Given the description of an element on the screen output the (x, y) to click on. 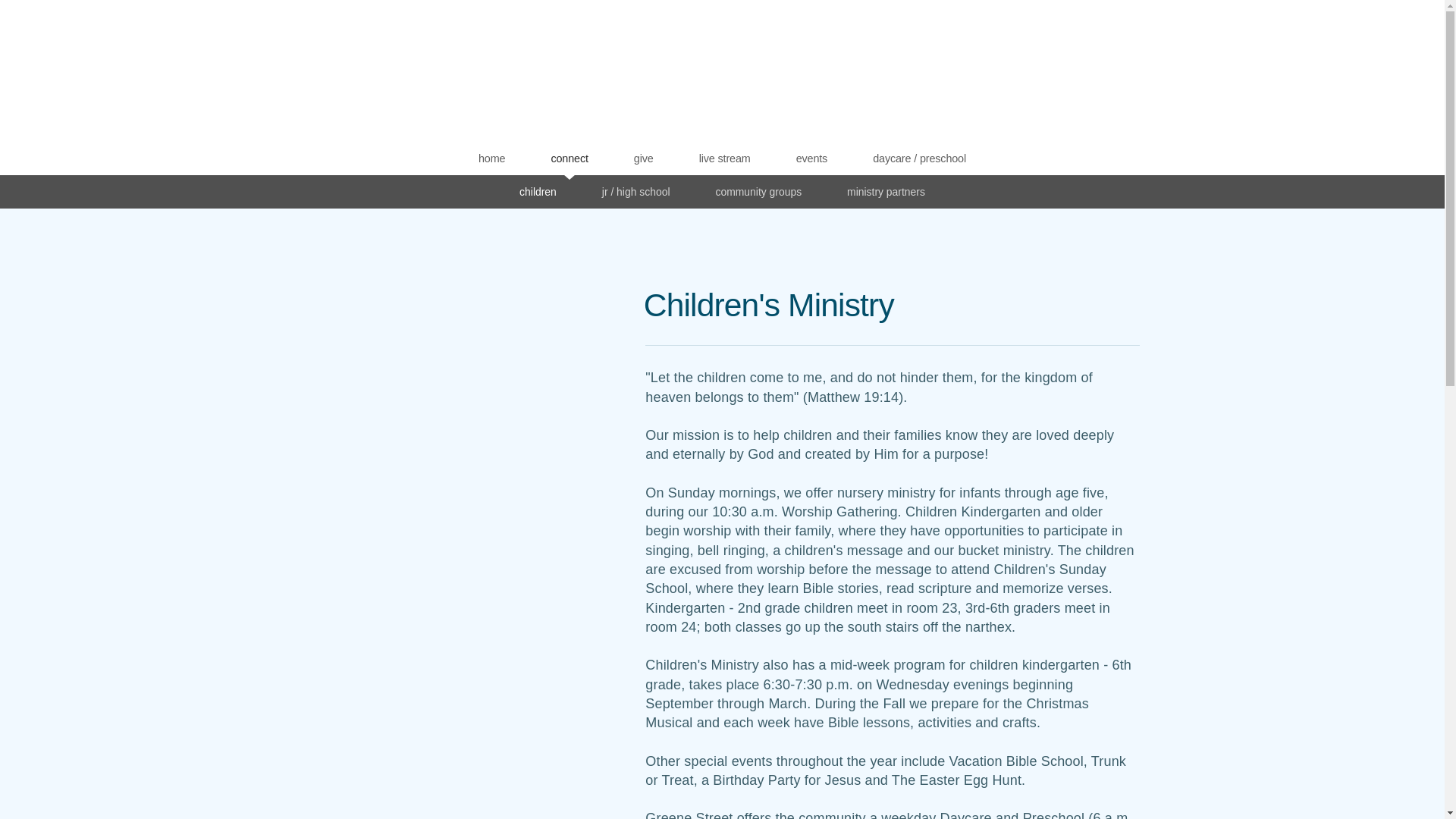
give (643, 158)
live stream (724, 158)
events (812, 158)
home (492, 158)
connect (569, 158)
